Given the description of an element on the screen output the (x, y) to click on. 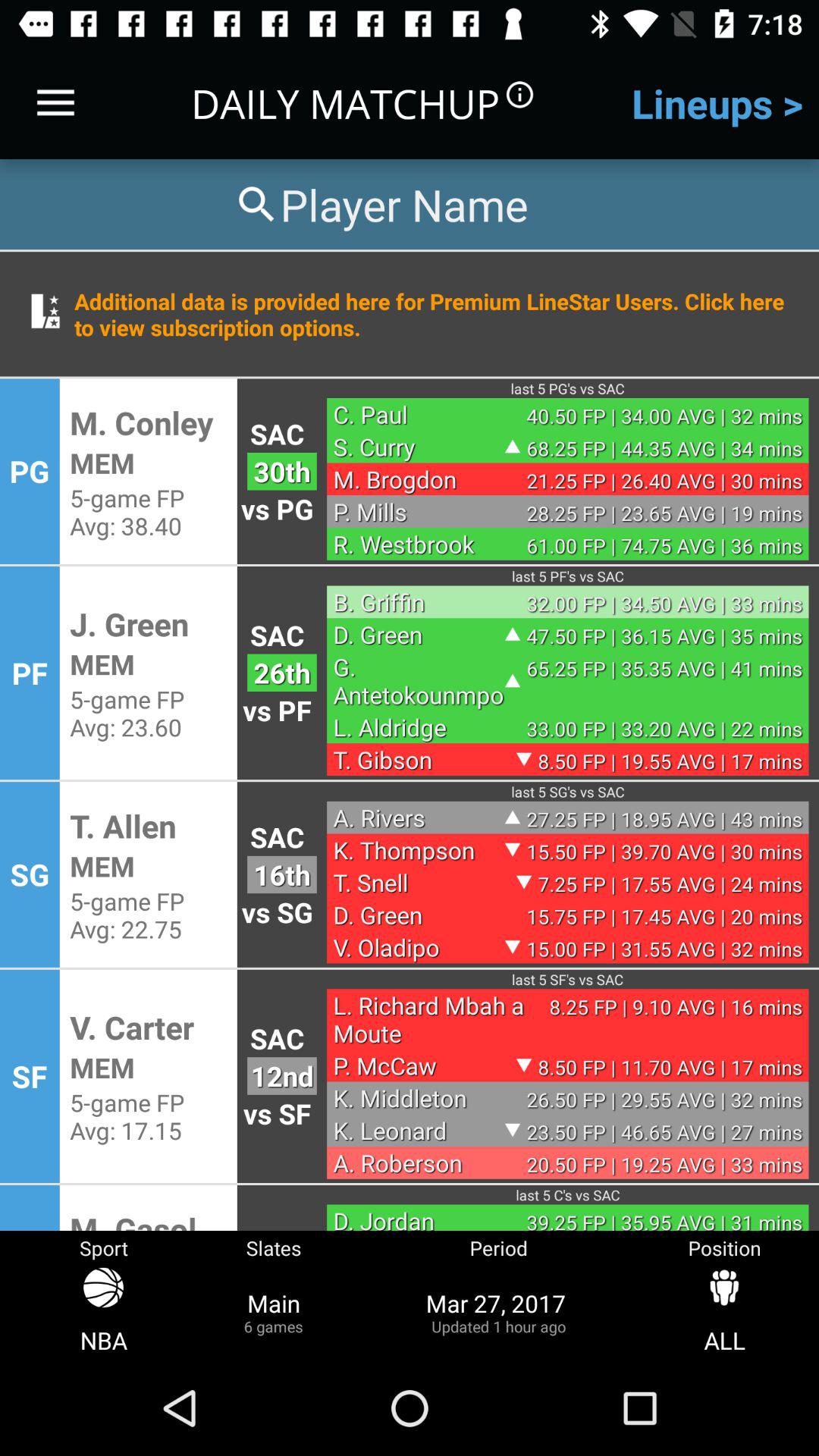
select the icon to the right of the 5 game fp icon (281, 874)
